Given the description of an element on the screen output the (x, y) to click on. 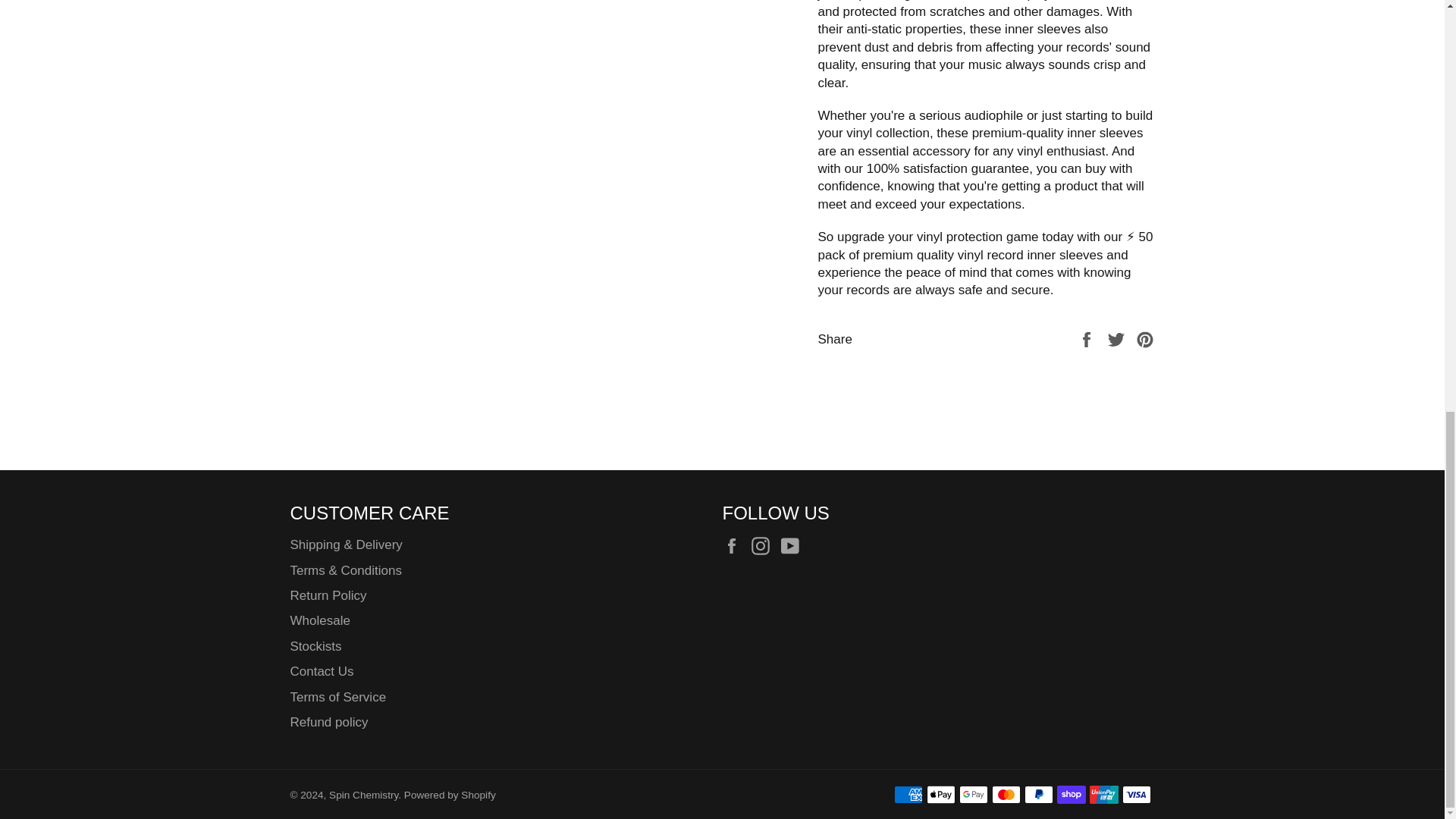
Share on Facebook (1088, 339)
Pin on Pinterest (1144, 339)
Share on Facebook (1088, 339)
Spin Chemistry on YouTube (793, 545)
Spin Chemistry on Facebook (735, 545)
Tweet on Twitter (1117, 339)
Tweet on Twitter (1117, 339)
Spin Chemistry on Instagram (764, 545)
